Given the description of an element on the screen output the (x, y) to click on. 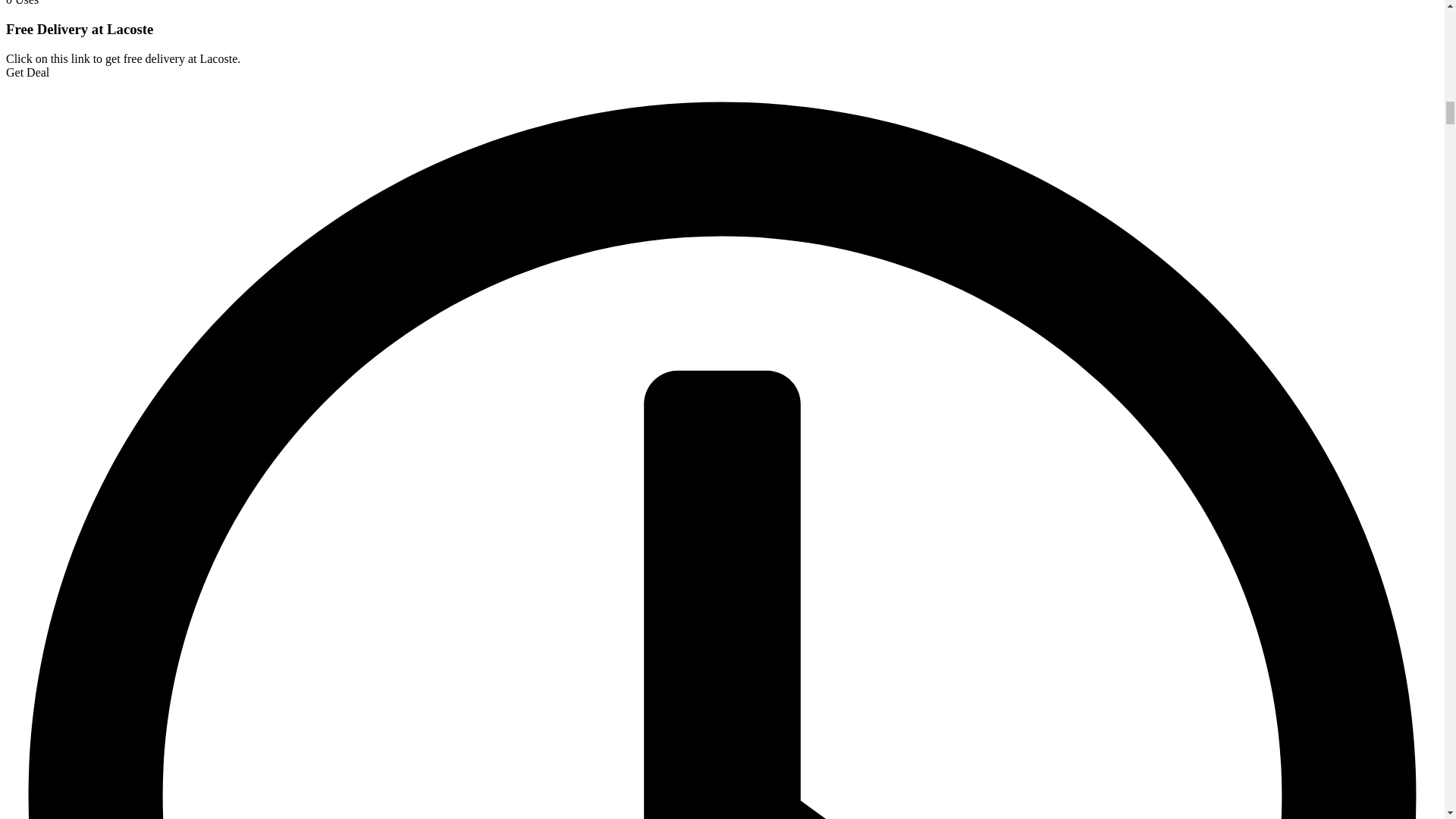
Get Deal (27, 72)
